Given the description of an element on the screen output the (x, y) to click on. 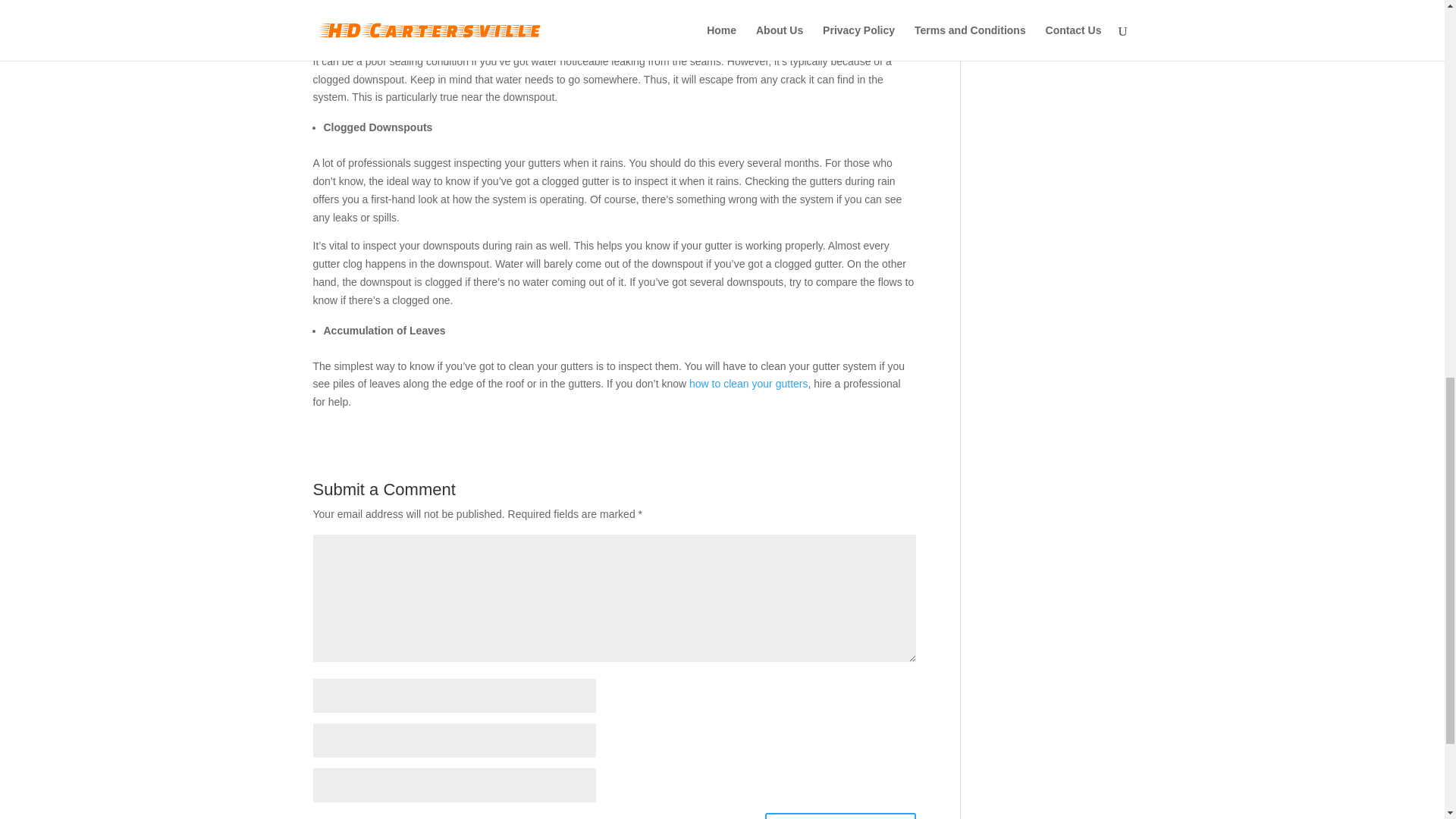
Submit Comment (840, 816)
Submit Comment (840, 816)
how to clean your gutters (748, 383)
